Given the description of an element on the screen output the (x, y) to click on. 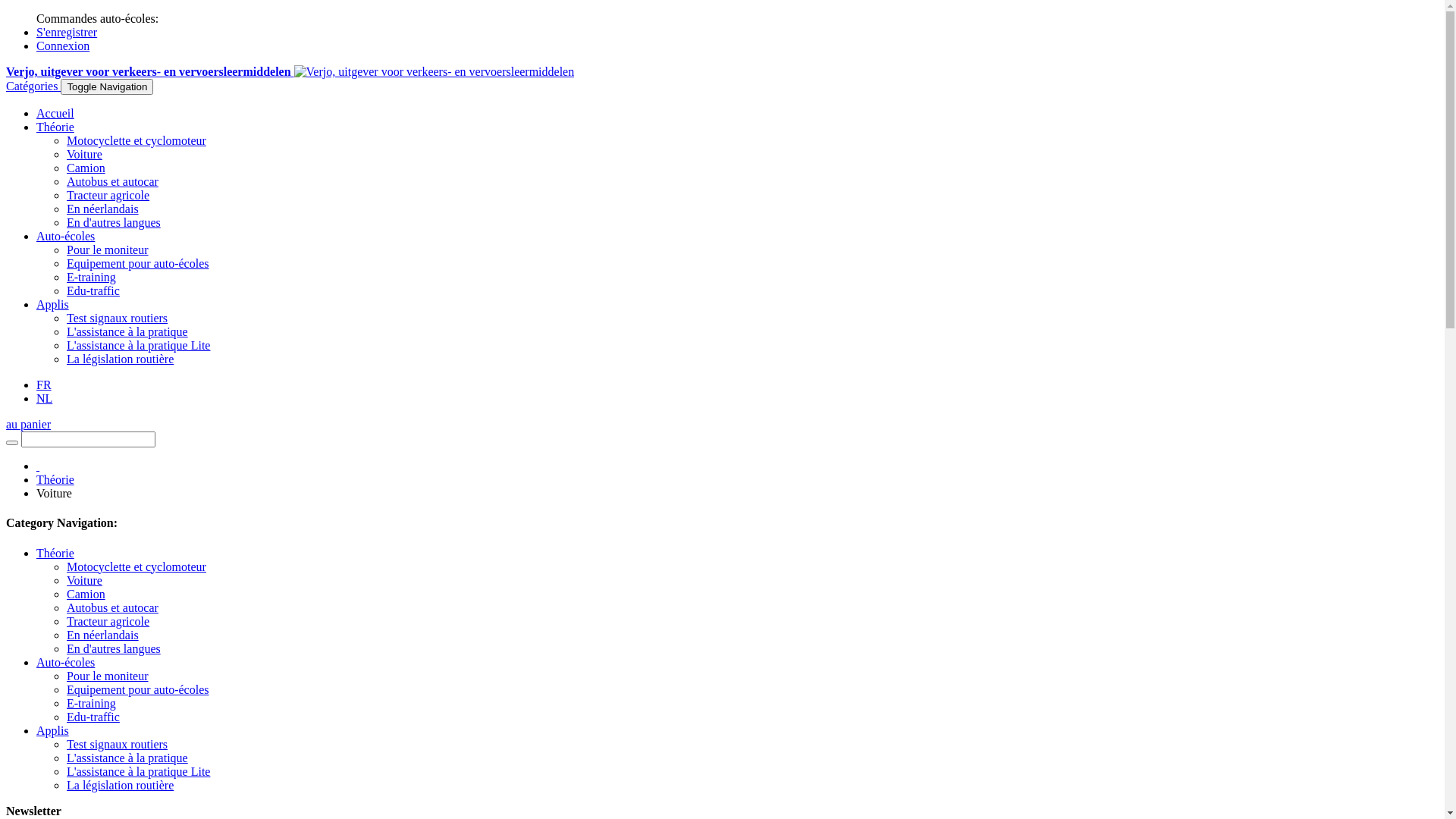
En d'autres langues Element type: text (113, 648)
Camion Element type: text (85, 593)
Connexion Element type: text (62, 45)
au panier Element type: text (28, 423)
Test signaux routiers Element type: text (116, 317)
Pour le moniteur Element type: text (107, 249)
Pour le moniteur Element type: text (107, 675)
NL Element type: text (44, 398)
Edu-traffic Element type: text (92, 716)
E-training Element type: text (91, 276)
Toggle Navigation Element type: text (106, 86)
Autobus et autocar Element type: text (112, 181)
Applis Element type: text (52, 304)
Verjo, uitgever voor verkeers- en vervoersleermiddelen Element type: text (290, 71)
Accueil Element type: text (55, 112)
Edu-traffic Element type: text (92, 290)
Test signaux routiers Element type: text (116, 743)
FR Element type: text (43, 384)
Tracteur agricole Element type: text (107, 194)
Applis Element type: text (52, 730)
  Element type: text (37, 465)
Tracteur agricole Element type: text (107, 621)
Motocyclette et cyclomoteur Element type: text (136, 140)
S'enregistrer Element type: text (66, 31)
Motocyclette et cyclomoteur Element type: text (136, 566)
Camion Element type: text (85, 167)
Voiture Element type: text (84, 153)
Chercher Element type: hover (12, 442)
Autobus et autocar Element type: text (112, 607)
En d'autres langues Element type: text (113, 222)
Voiture Element type: text (84, 580)
E-training Element type: text (91, 702)
